Given the description of an element on the screen output the (x, y) to click on. 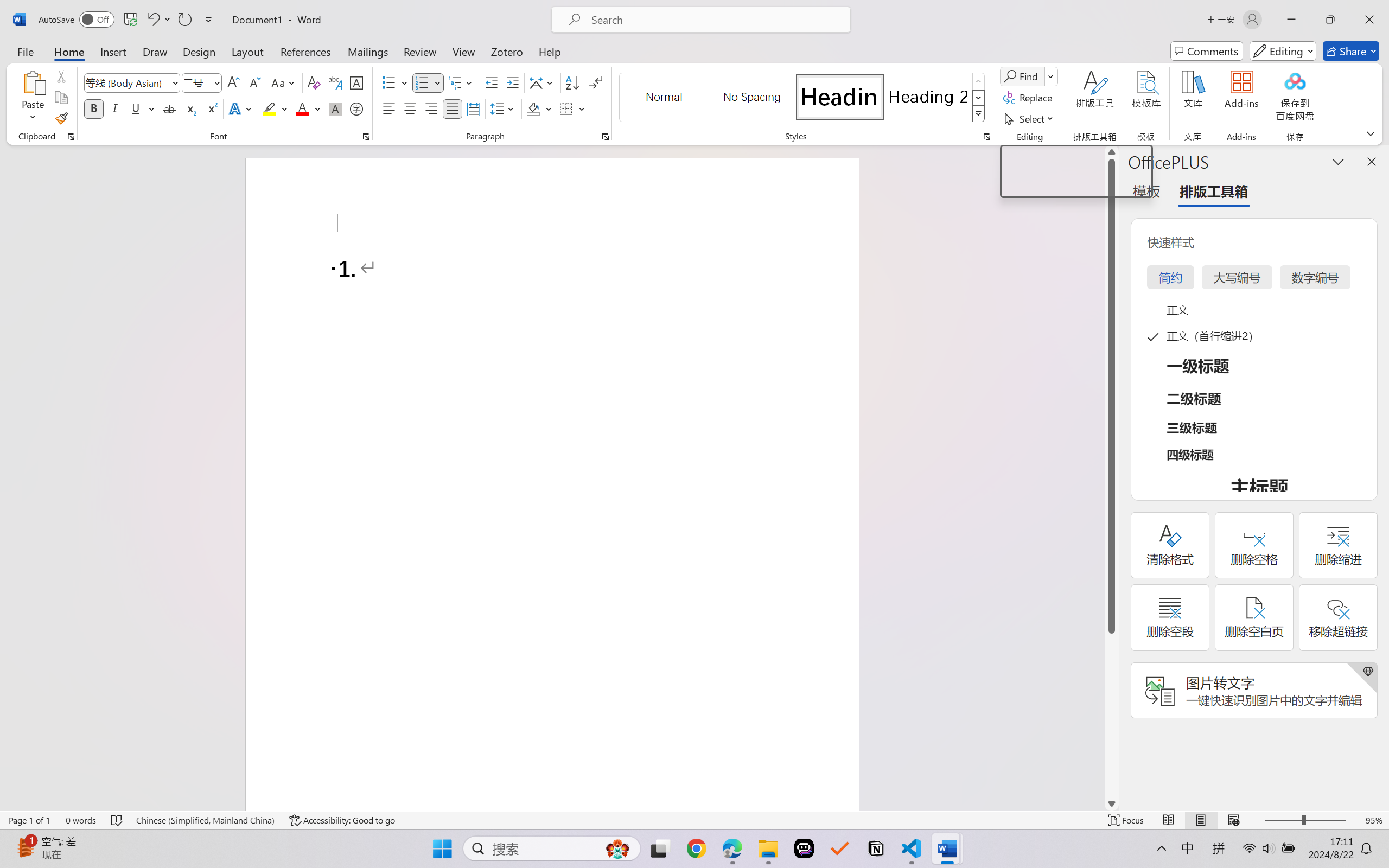
Repeat Doc Close (184, 19)
AutomationID: QuickStylesGallery (802, 97)
